Given the description of an element on the screen output the (x, y) to click on. 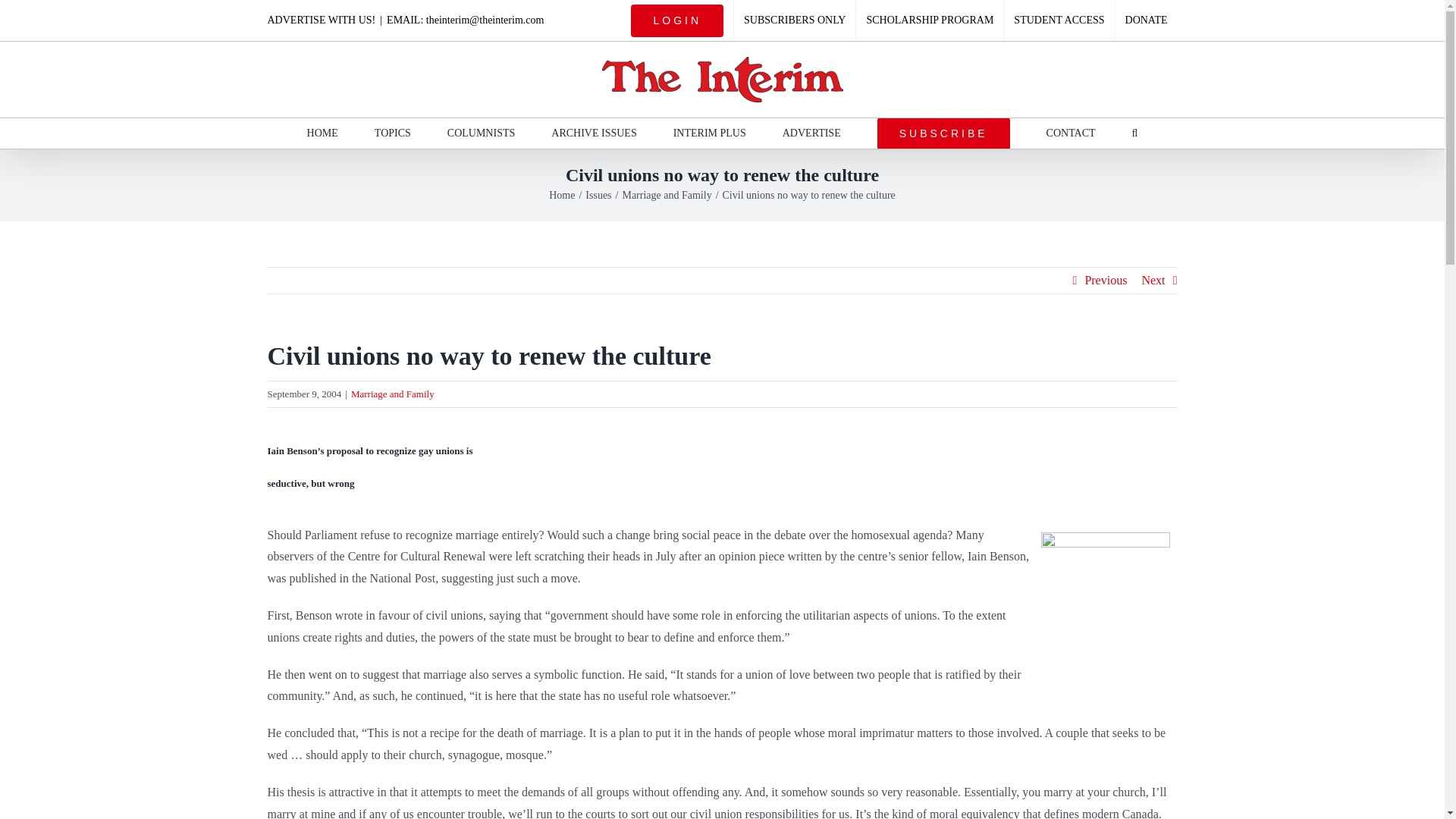
Search (1135, 132)
DONATE (1146, 20)
HOME (322, 132)
Home (561, 194)
Issues (598, 194)
ADVERTISE (812, 132)
LOGIN (677, 20)
CONTACT (1071, 132)
STUDENT ACCESS (1058, 20)
TOPICS (392, 132)
Next (1152, 280)
Previous (1105, 280)
COLUMNISTS (480, 132)
SUBSCRIBE (943, 132)
SCHOLARSHIP PROGRAM (929, 20)
